Given the description of an element on the screen output the (x, y) to click on. 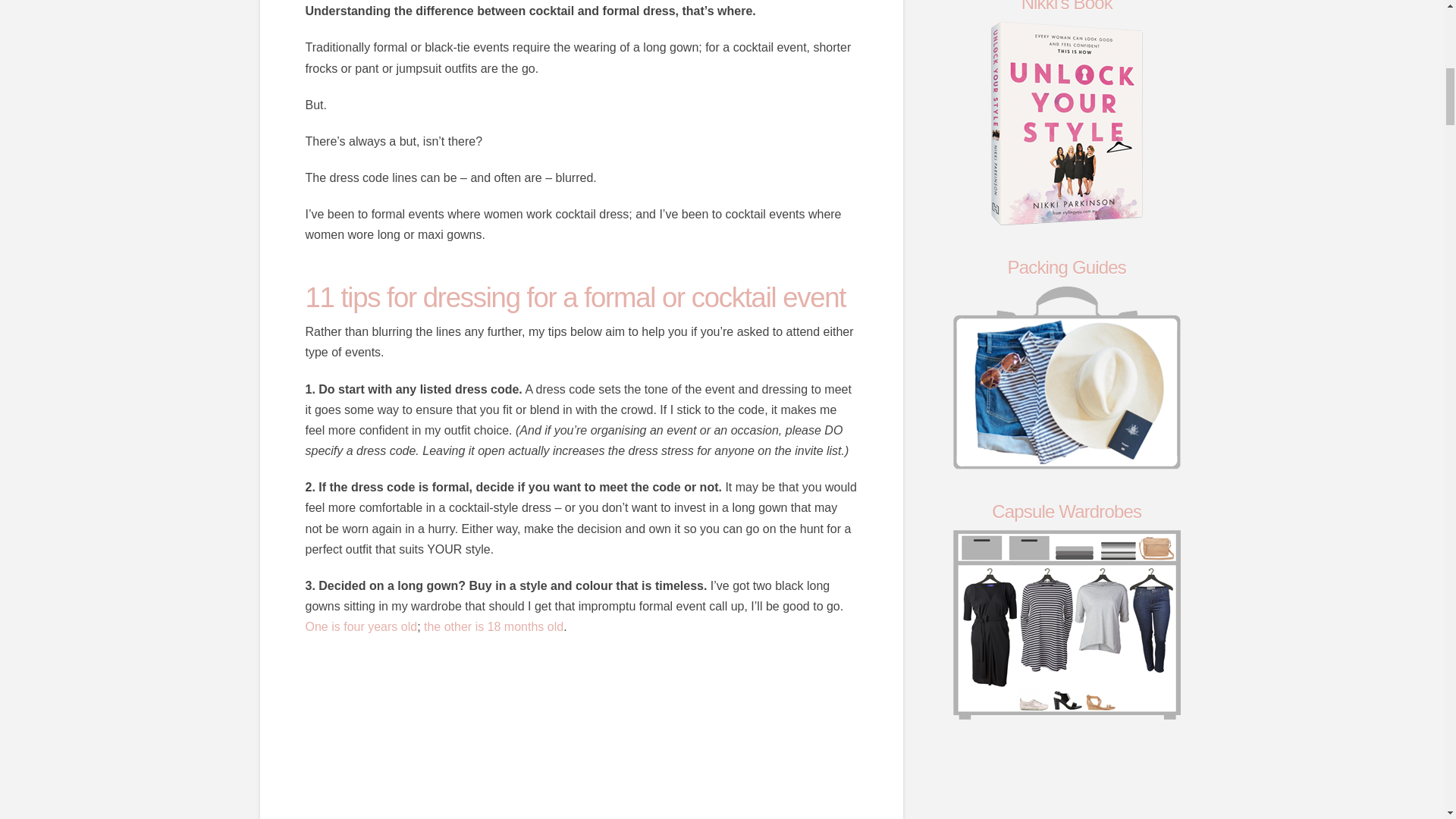
One is four years old (360, 626)
the other is 18 months old (492, 626)
